Given the description of an element on the screen output the (x, y) to click on. 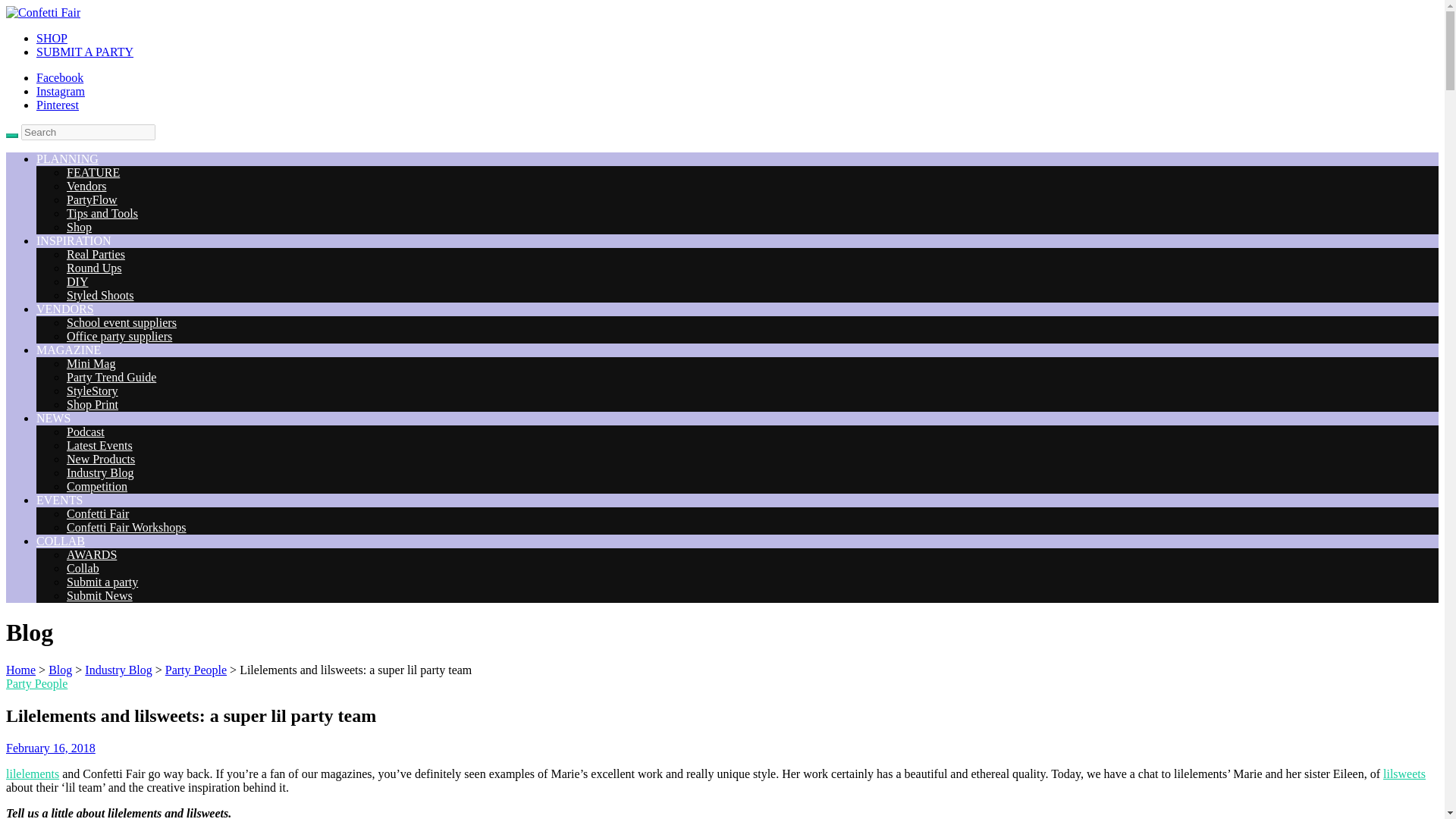
Submit News (99, 594)
Mini Mag (90, 363)
SUBMIT A PARTY (84, 51)
Tips and Tools (102, 213)
Styled Shoots (99, 295)
Party Trend Guide (110, 377)
Shop (78, 226)
Go to Confetti Fair. (19, 669)
Latest Events (99, 445)
Round Ups (93, 267)
MAGAZINE (68, 349)
Industry Blog (99, 472)
Confetti Fair (97, 513)
COLLAB (60, 540)
AWARDS (91, 554)
